Given the description of an element on the screen output the (x, y) to click on. 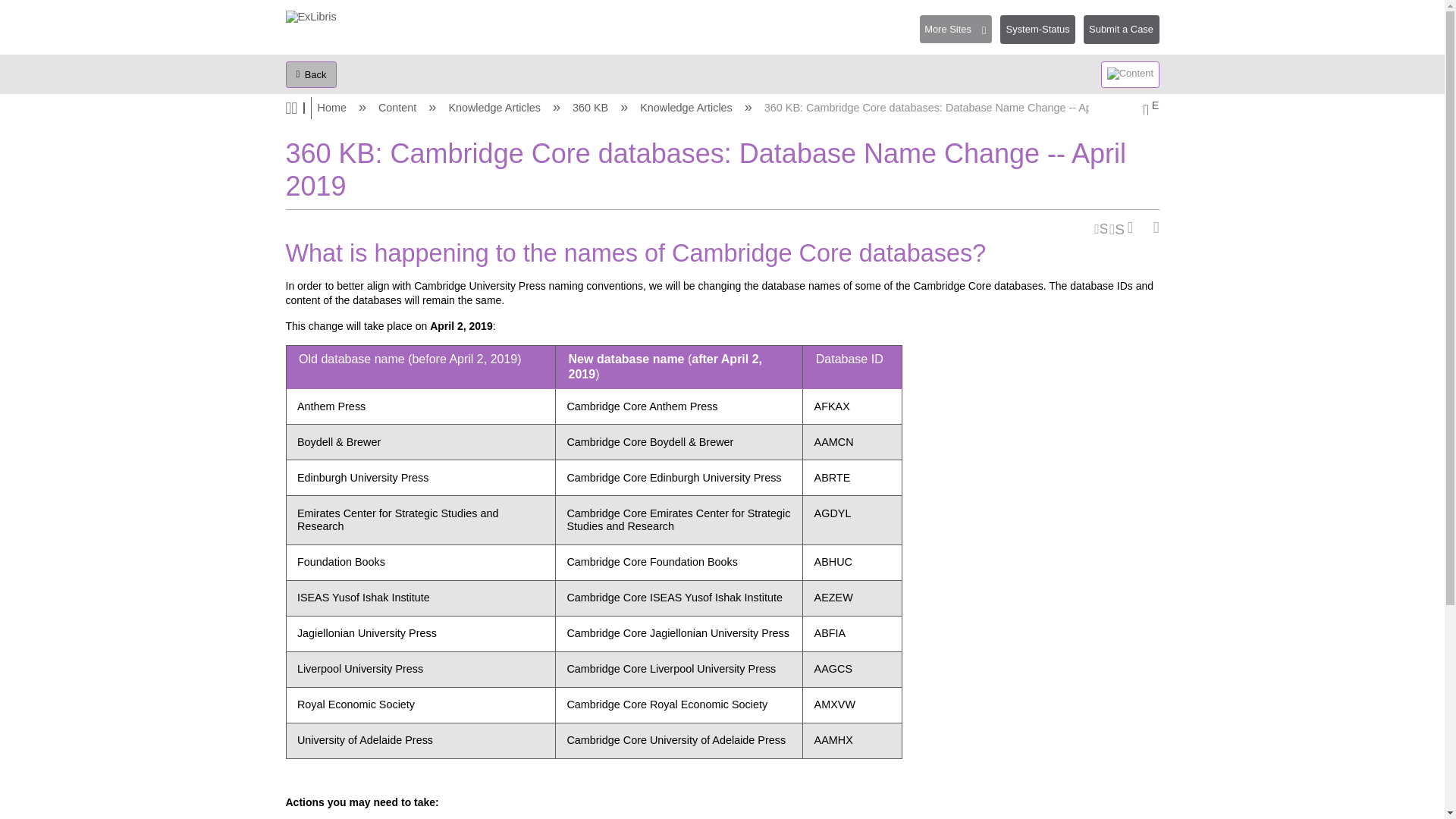
System-Status (1037, 29)
Back (310, 74)
Submit a Case (1120, 29)
ExLibris (310, 16)
Home (333, 107)
Export page as a PDF (1133, 227)
Share page by email (1116, 227)
Share page by email (1116, 227)
Content (398, 107)
360 KB (591, 107)
System-Status (1041, 34)
Knowledge Articles (495, 107)
Save as PDF (1133, 227)
Knowledge Articles (687, 107)
